Given the description of an element on the screen output the (x, y) to click on. 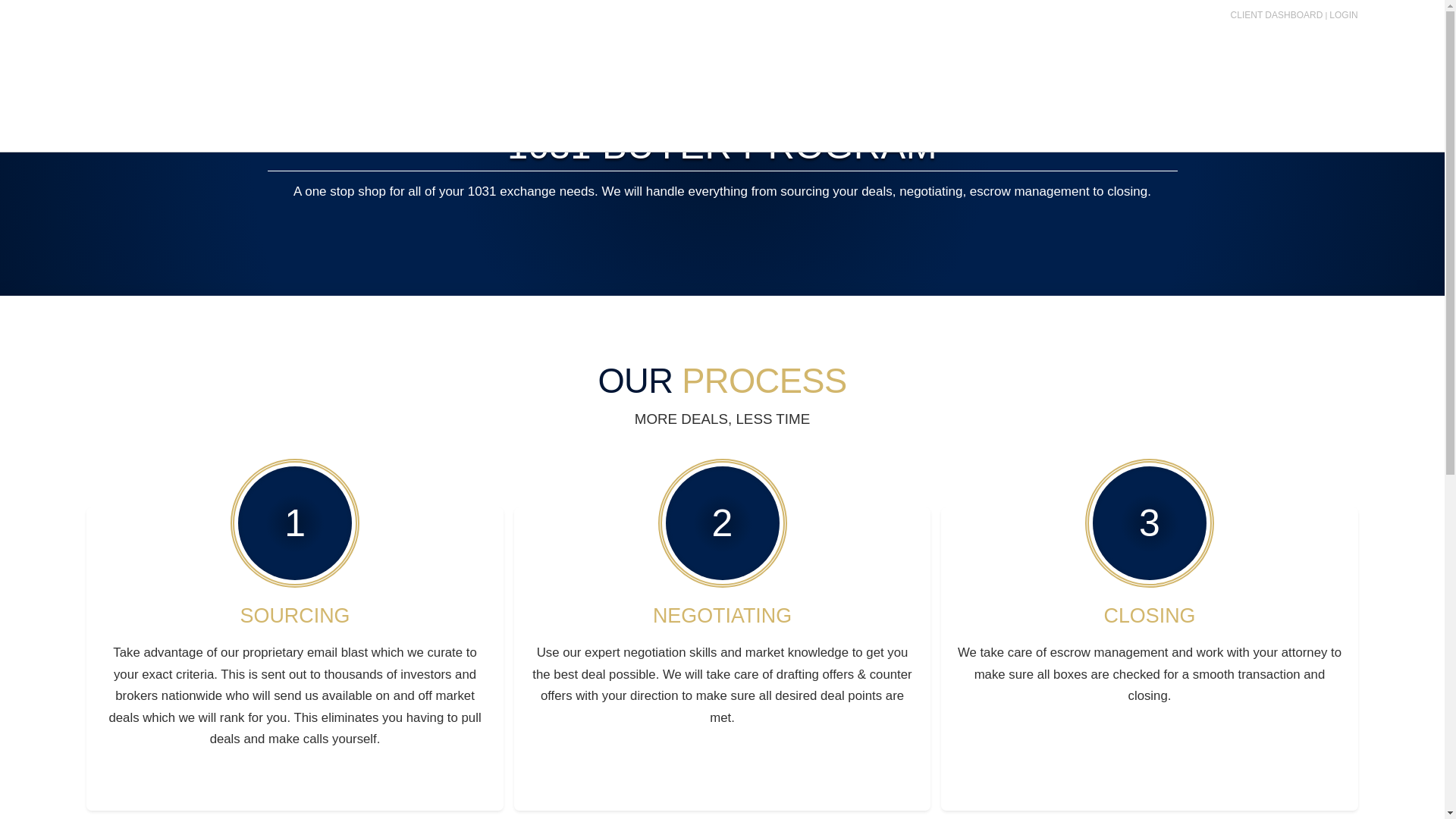
CLIENT DASHBOARD (1276, 14)
COMPANY (861, 61)
SERVICES (952, 61)
LISTINGS (1036, 61)
HOME (786, 61)
CONTACT (1248, 61)
LOGIN (1342, 14)
